Given the description of an element on the screen output the (x, y) to click on. 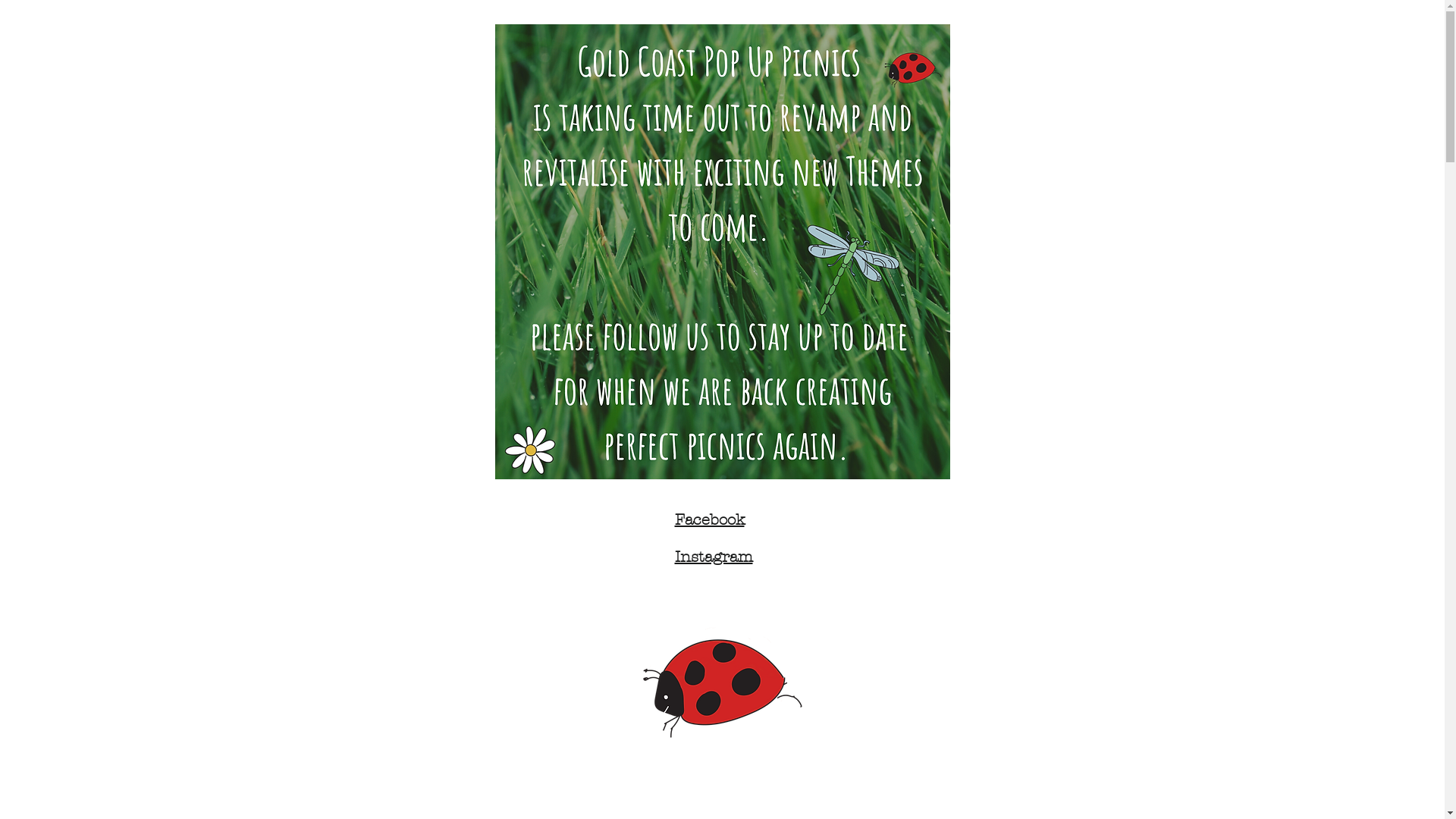
Instagram Element type: text (713, 556)
Facebook Element type: text (709, 519)
